Given the description of an element on the screen output the (x, y) to click on. 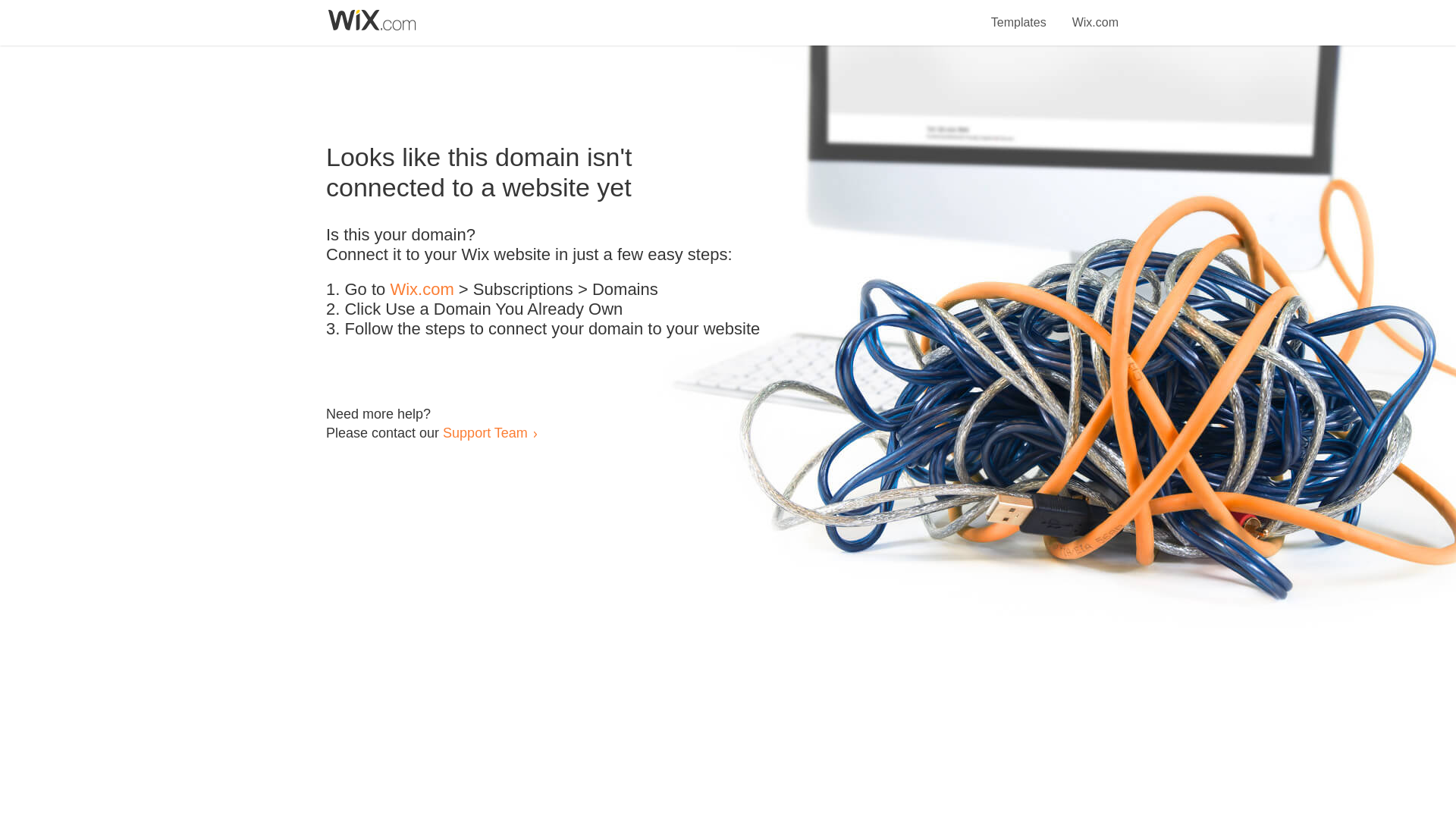
Wix.com (421, 289)
Templates (1018, 14)
Support Team (484, 432)
Wix.com (1095, 14)
